Given the description of an element on the screen output the (x, y) to click on. 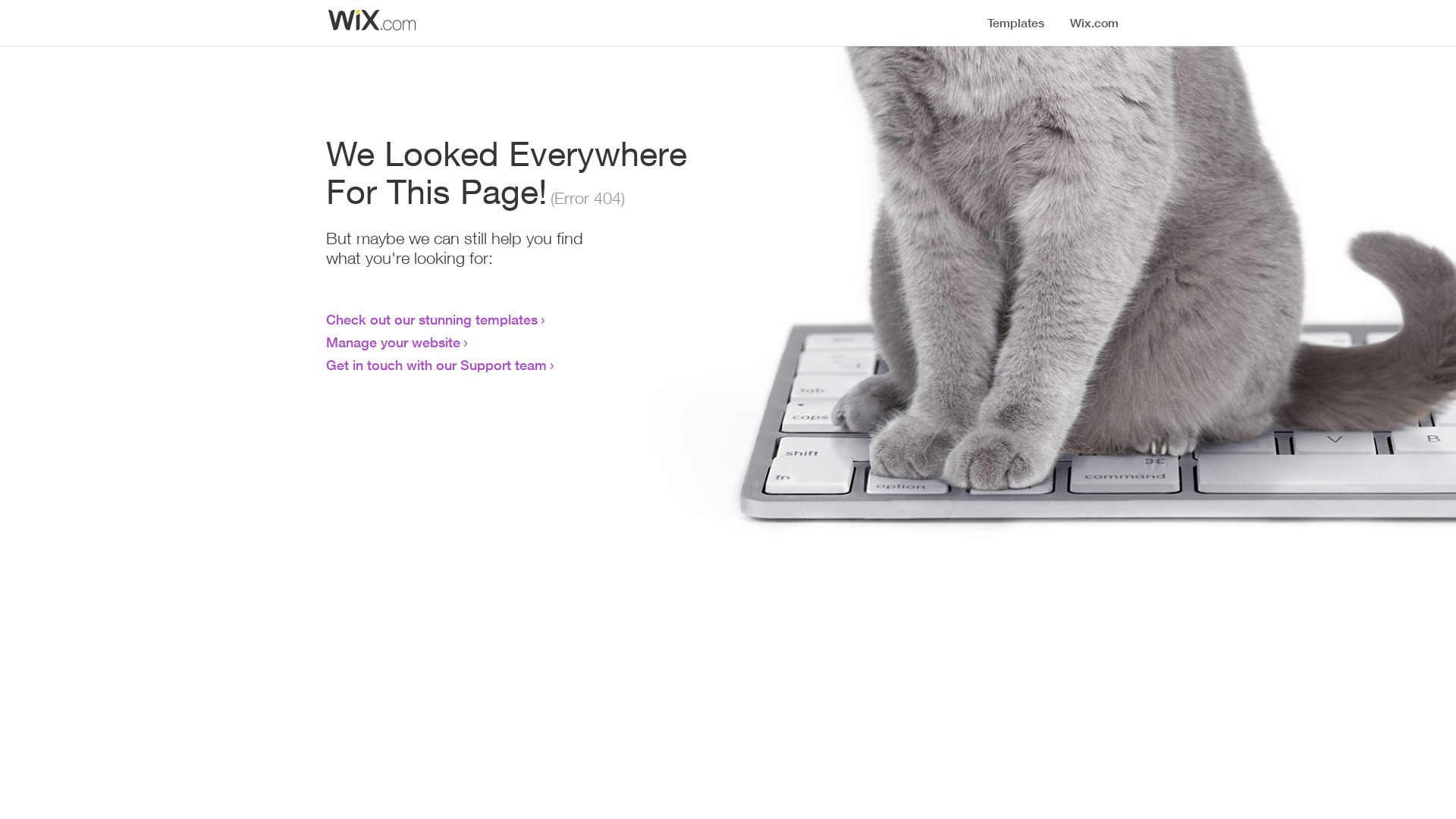
Manage your website Element type: text (393, 341)
Check out our stunning templates Element type: text (431, 318)
Get in touch with our Support team Element type: text (436, 364)
